Given the description of an element on the screen output the (x, y) to click on. 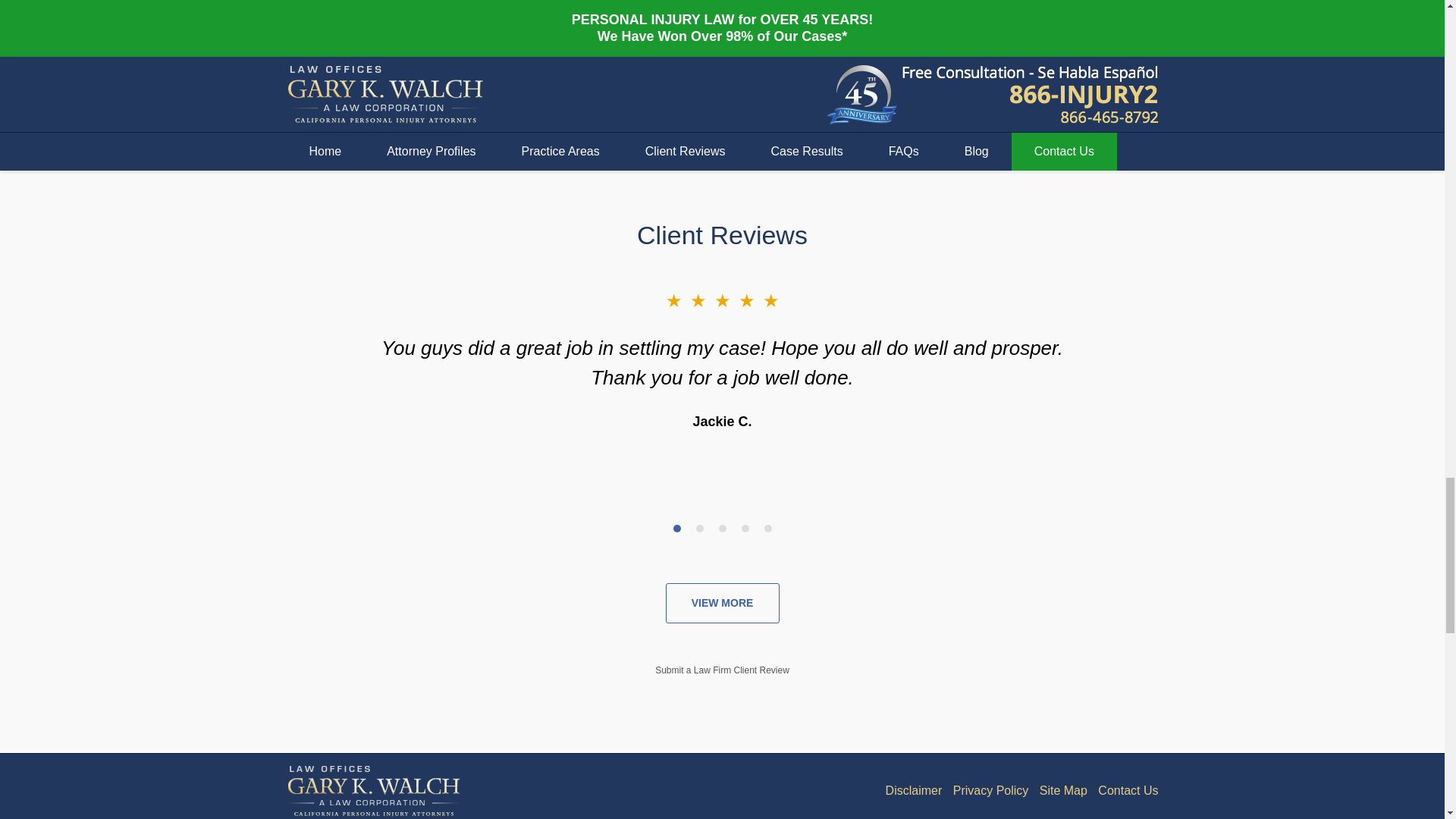
SA ATIN PO ITO (790, 34)
